Given the description of an element on the screen output the (x, y) to click on. 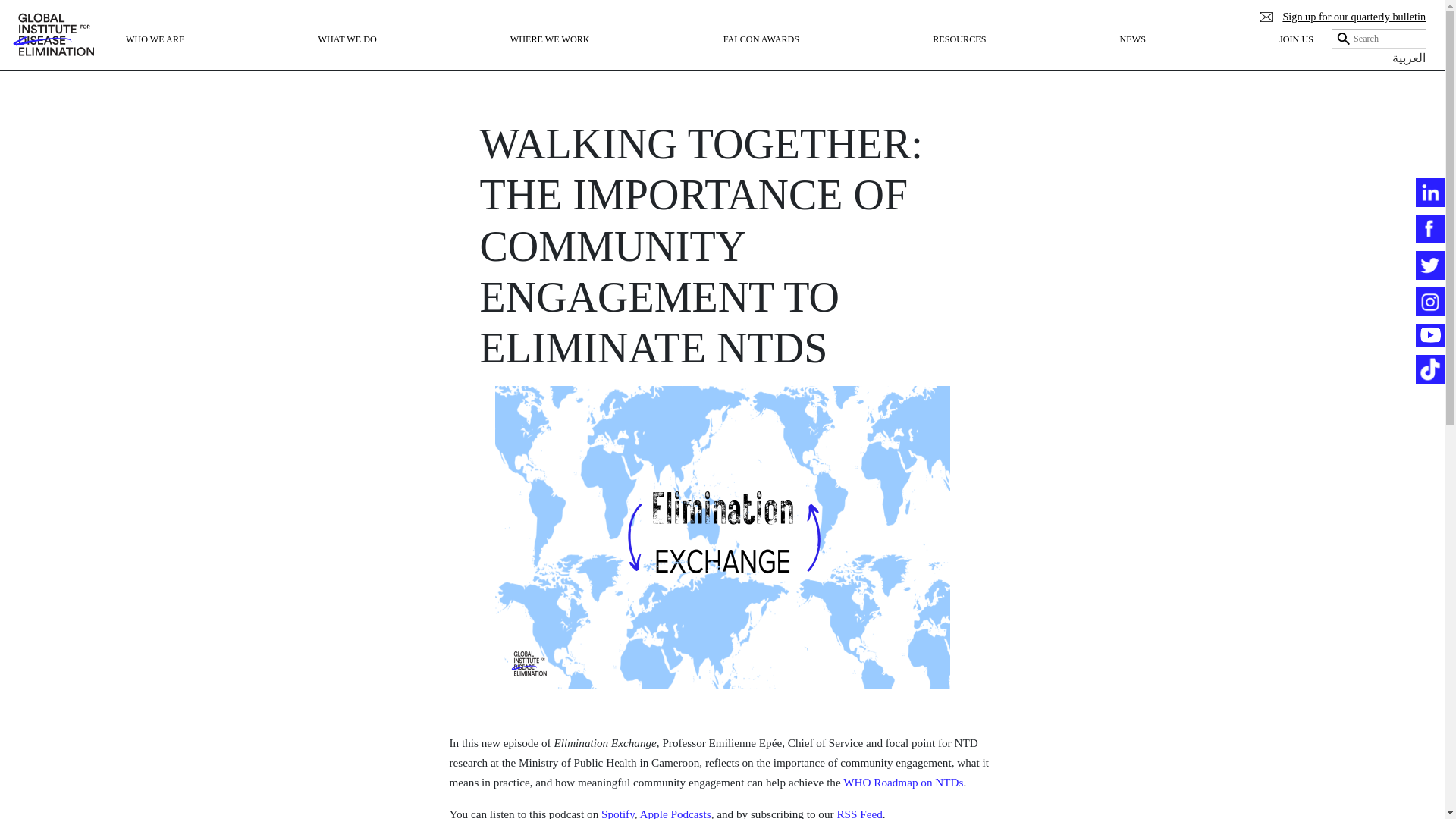
FALCON AWARDS (761, 53)
Sign up for our quarterly bulletin (1342, 17)
WHO WE ARE (154, 53)
WHERE WE WORK (549, 53)
WHAT WE DO (346, 53)
RESOURCES (959, 53)
JOIN US (1296, 53)
